Given the description of an element on the screen output the (x, y) to click on. 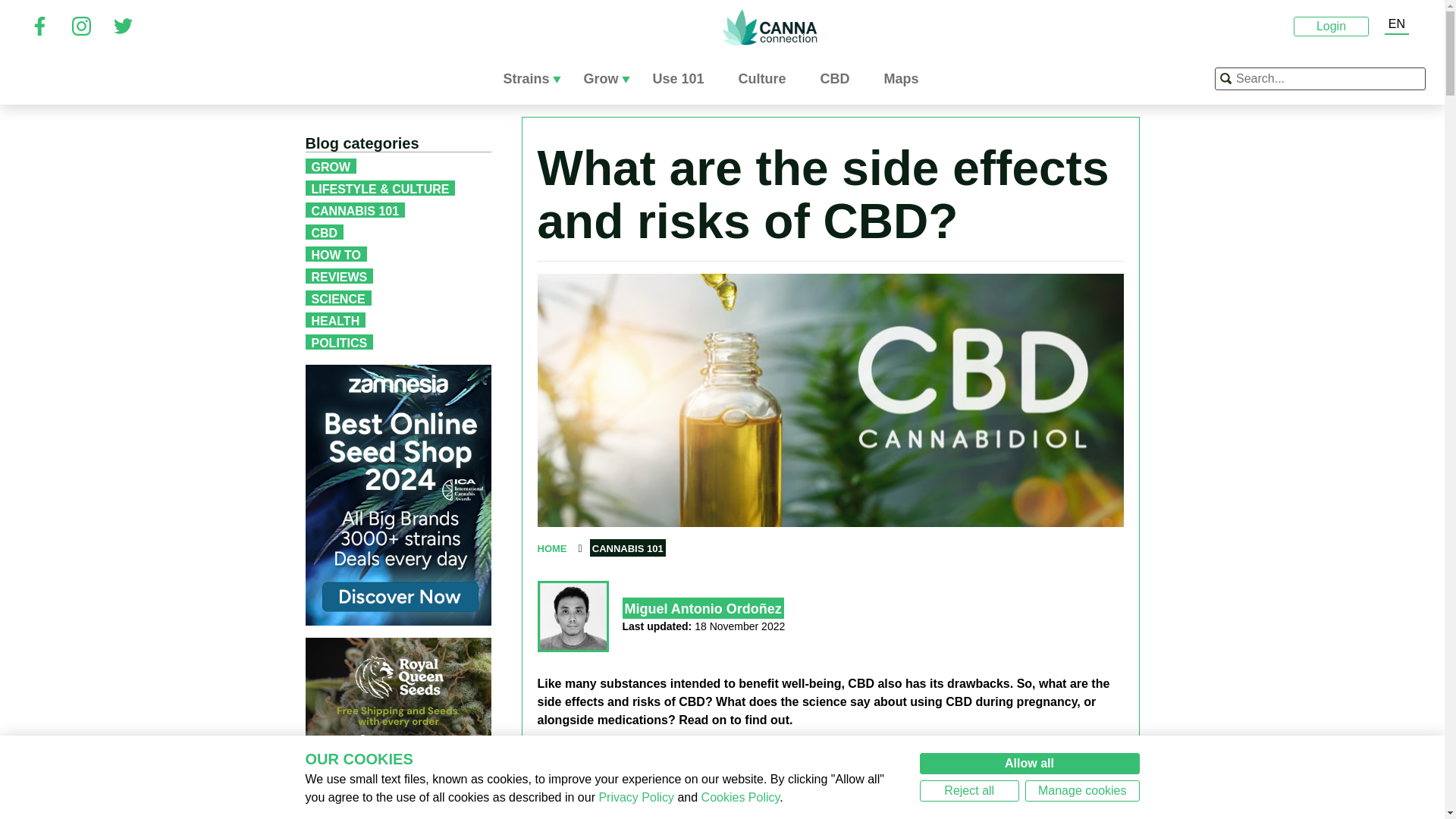
Maps (906, 79)
Strains (531, 79)
Strains (531, 79)
Grow (605, 79)
CannaConnection.com (769, 26)
Grow (605, 79)
Use 101 (683, 79)
CannaConnection.com (769, 26)
CBD (841, 79)
Culture (767, 79)
